Given the description of an element on the screen output the (x, y) to click on. 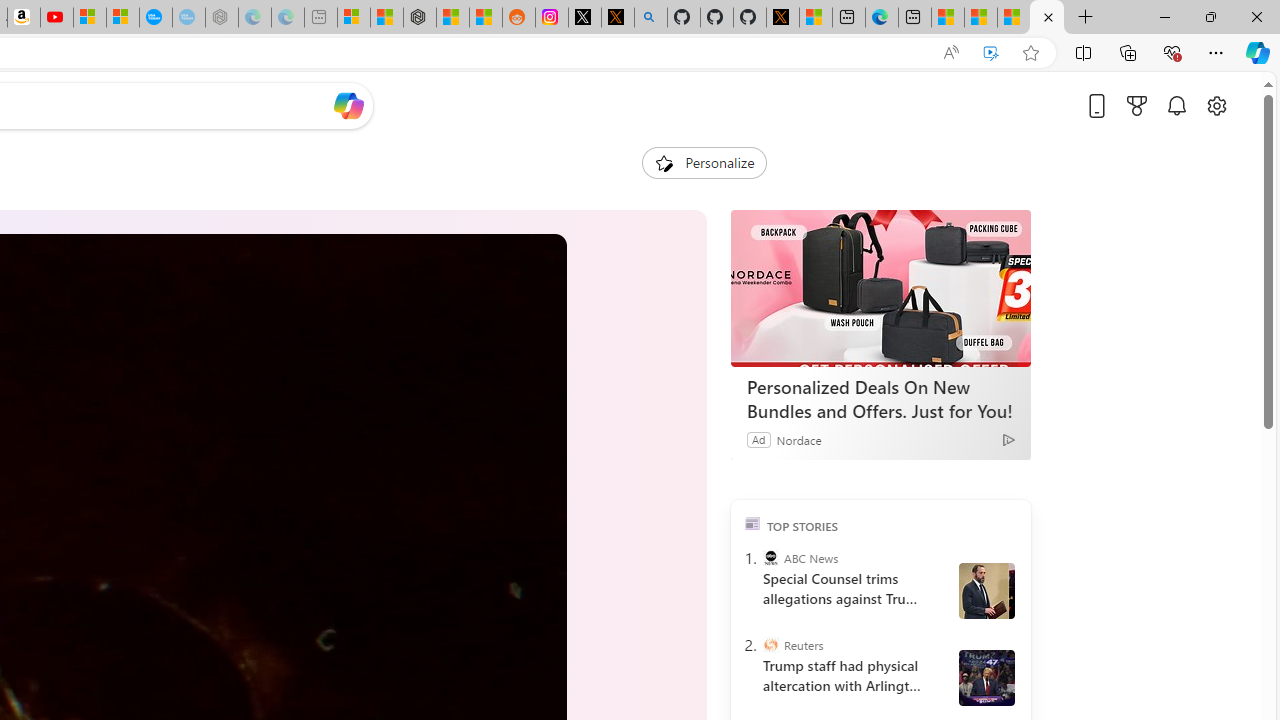
Personalized Deals On New Bundles and Offers. Just for You! (880, 399)
Nordace - Nordace has arrived Hong Kong - Sleeping (222, 17)
